Given the description of an element on the screen output the (x, y) to click on. 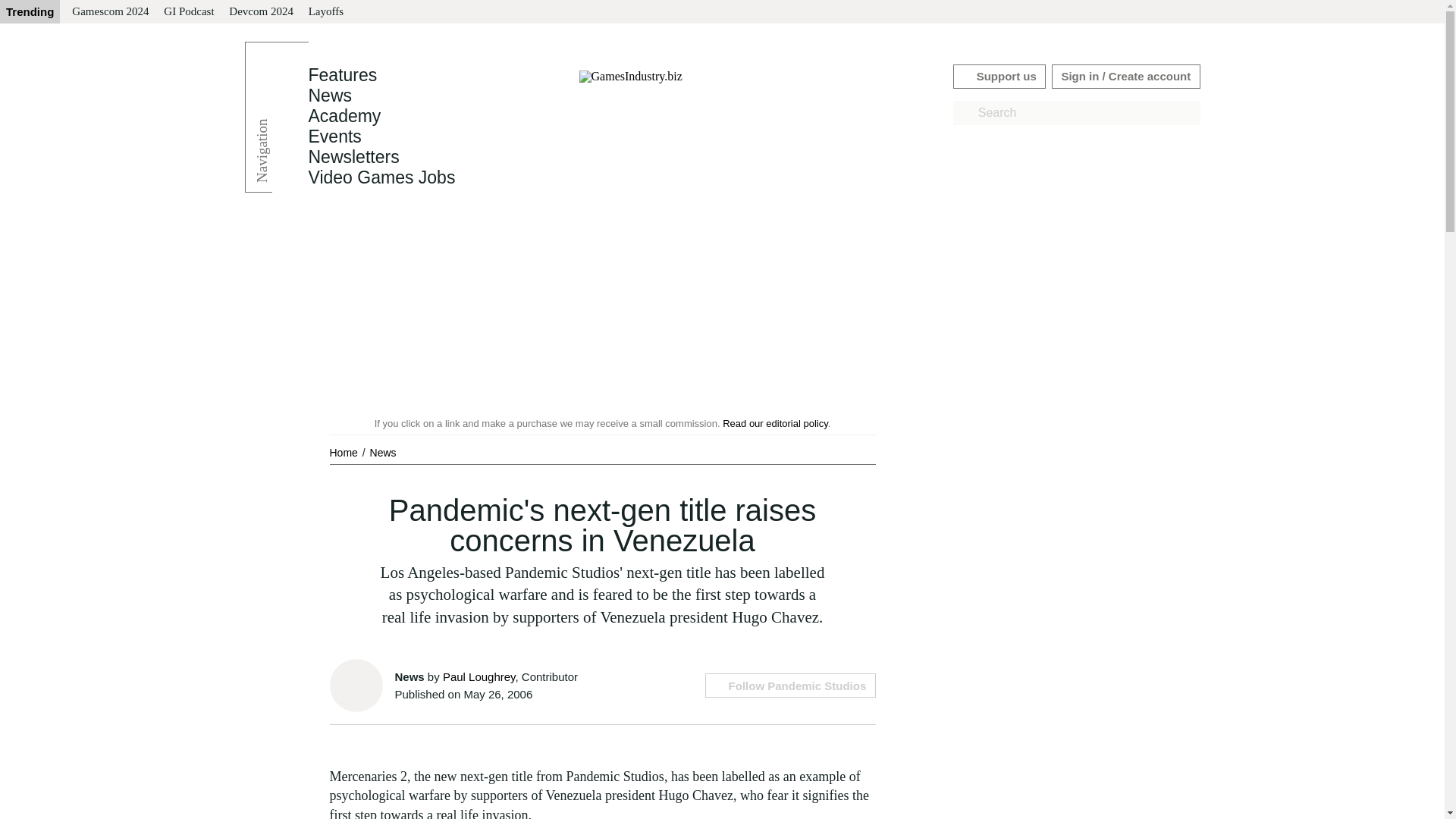
Home (344, 452)
Features (342, 75)
Gamescom 2024 (109, 11)
Gamescom 2024 (109, 11)
Layoffs (325, 11)
GI Podcast (188, 11)
Newsletters (352, 157)
News (329, 95)
Academy (343, 116)
Video Games Jobs (380, 177)
